Given the description of an element on the screen output the (x, y) to click on. 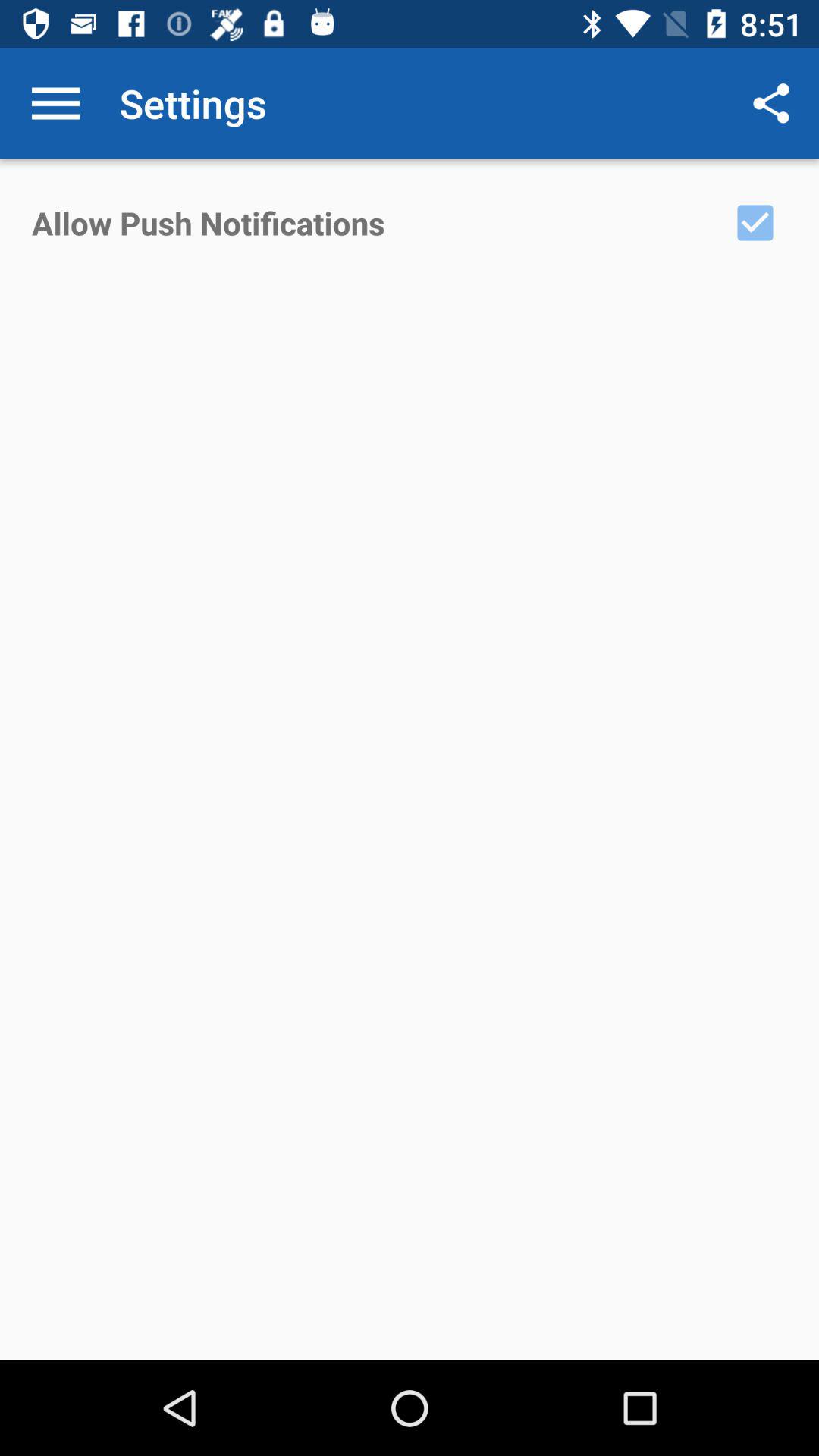
turn on the icon next to the settings item (55, 103)
